Given the description of an element on the screen output the (x, y) to click on. 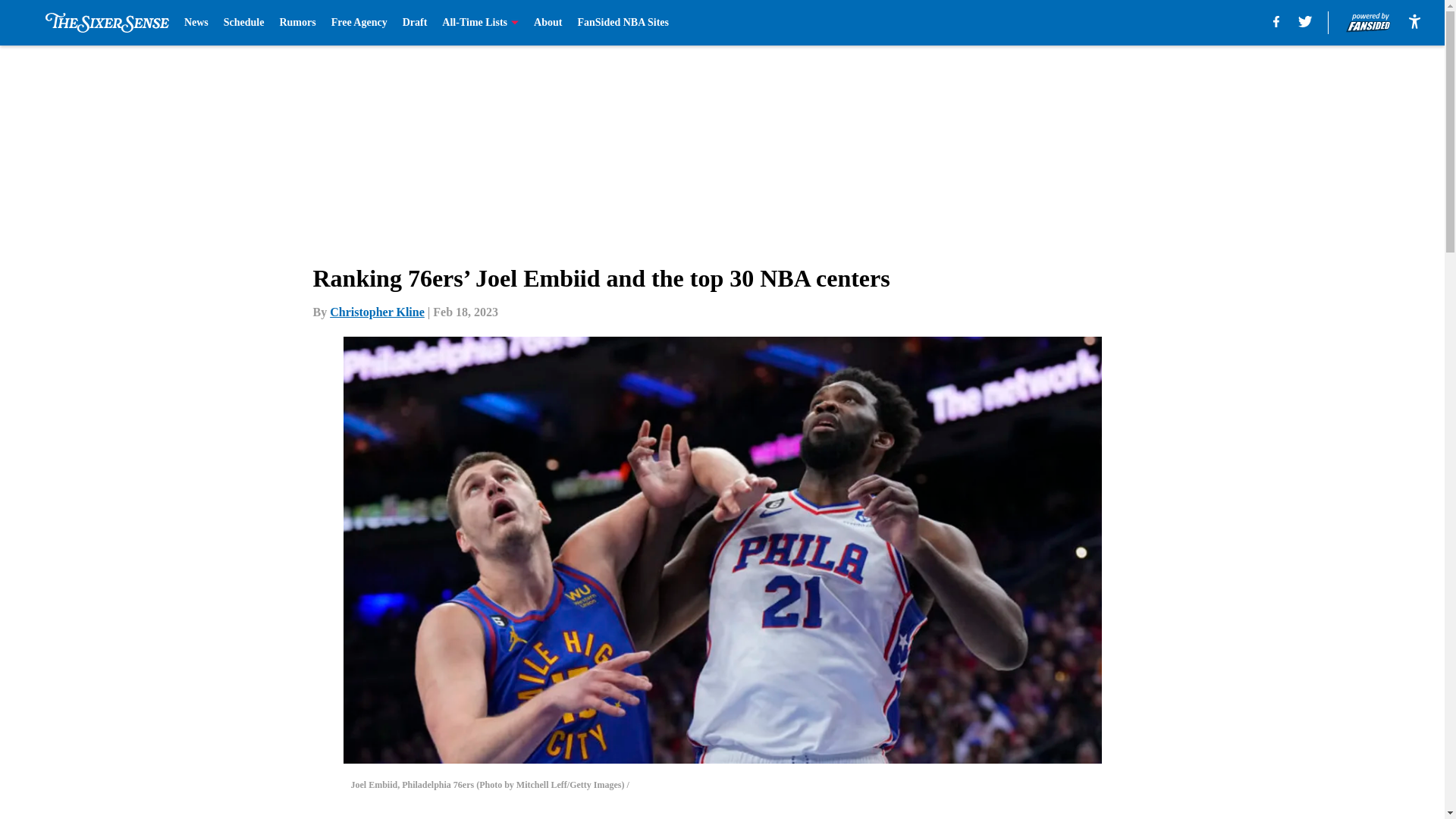
News (196, 22)
Draft (415, 22)
FanSided NBA Sites (622, 22)
Free Agency (359, 22)
All-Time Lists (480, 22)
Schedule (244, 22)
About (548, 22)
Christopher Kline (377, 311)
Rumors (297, 22)
